Given the description of an element on the screen output the (x, y) to click on. 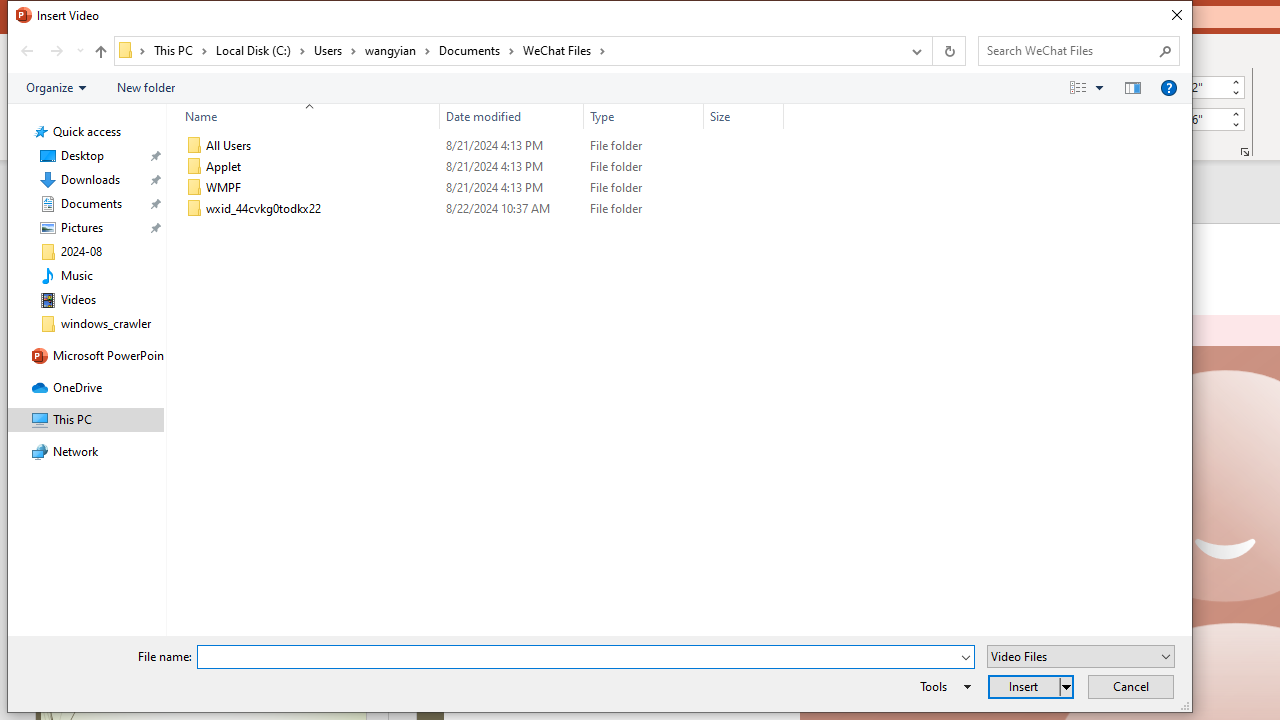
Size (743, 209)
More (1235, 113)
All locations (132, 50)
Type (643, 115)
Type (643, 209)
Address band toolbar (931, 51)
Local Disk (C:) (260, 50)
Open (1165, 655)
Date modified (511, 115)
wxid_44cvkg0todkx22 (480, 209)
Back (Alt + Left Arrow) (26, 51)
Size and Position... (1244, 151)
